Given the description of an element on the screen output the (x, y) to click on. 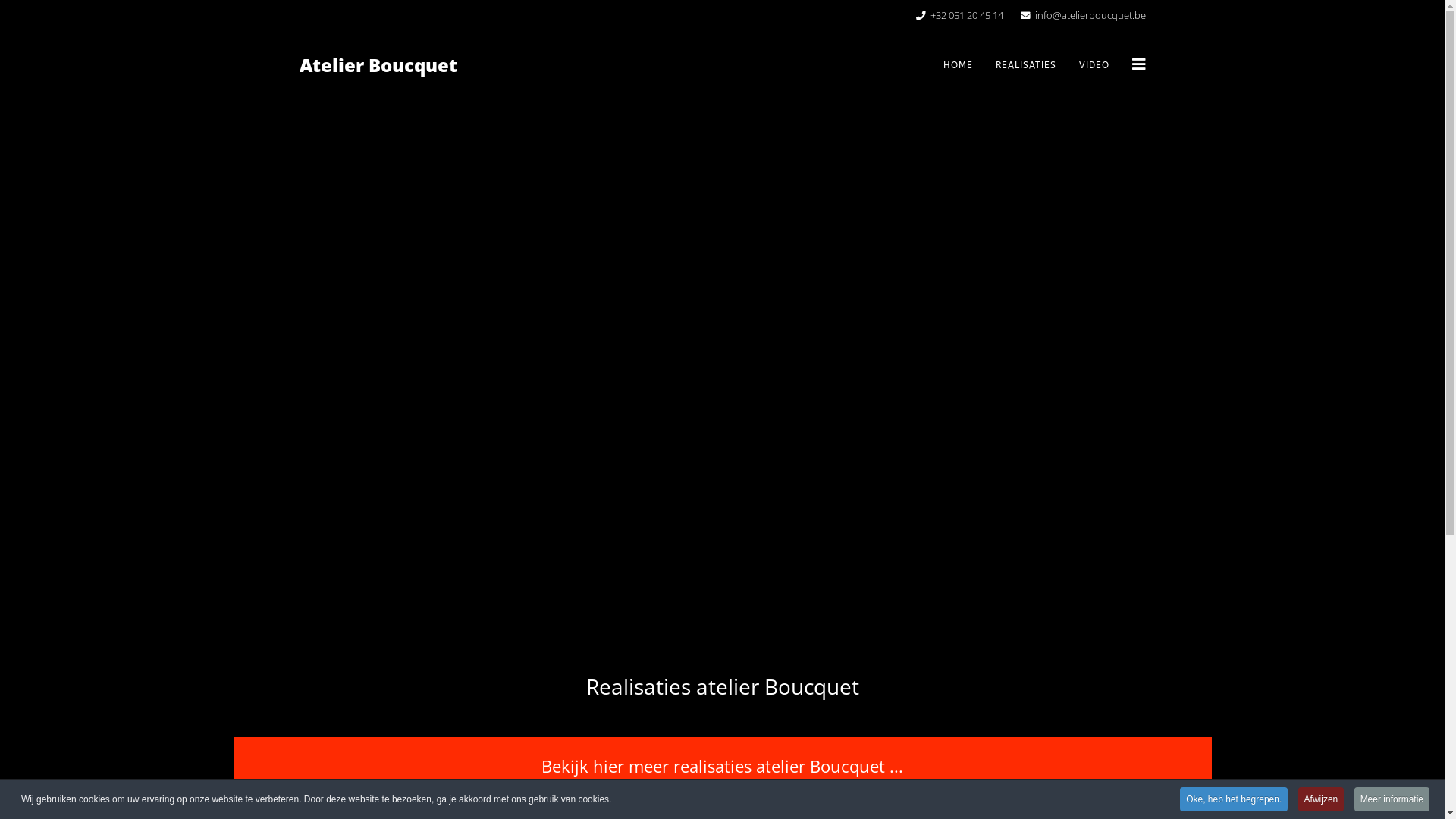
Bekijk hier meer realisaties atelier Boucquet ... Element type: text (722, 766)
+32 051 20 45 14 Element type: text (965, 15)
VIDEO Element type: text (1093, 65)
info@atelierboucquet.be Element type: text (1089, 15)
Helix3 Megamenu Options Element type: hover (1138, 64)
REALISATIES Element type: text (1025, 65)
Oke, heb het begrepen. Element type: text (1233, 799)
Atelier Boucquet Element type: text (377, 65)
HOME Element type: text (957, 65)
YouTube video player Element type: hover (722, 375)
Afwijzen Element type: text (1321, 799)
Meer informatie Element type: text (1391, 799)
